Given the description of an element on the screen output the (x, y) to click on. 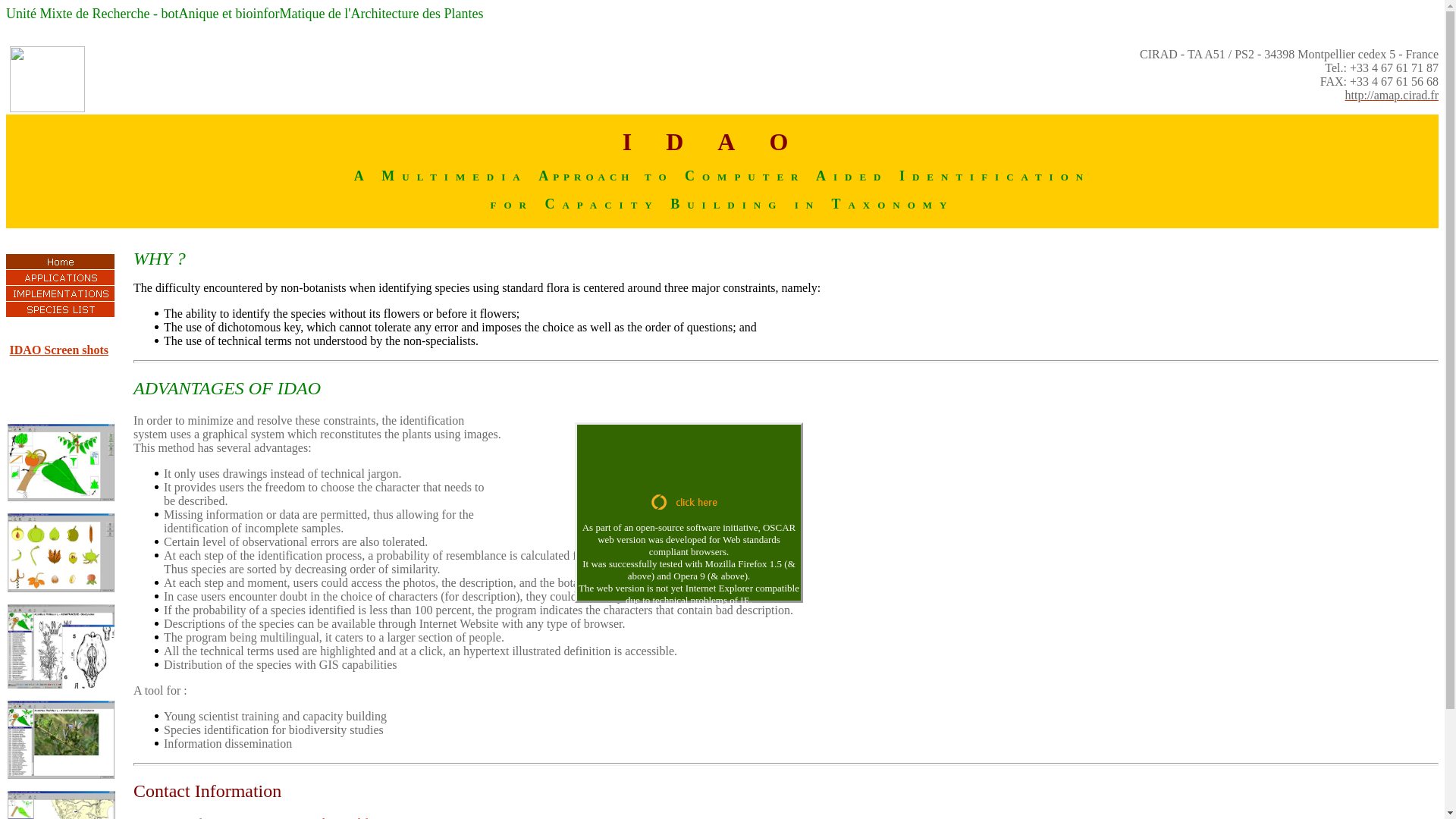
IDAO Screen shots (58, 349)
